Given the description of an element on the screen output the (x, y) to click on. 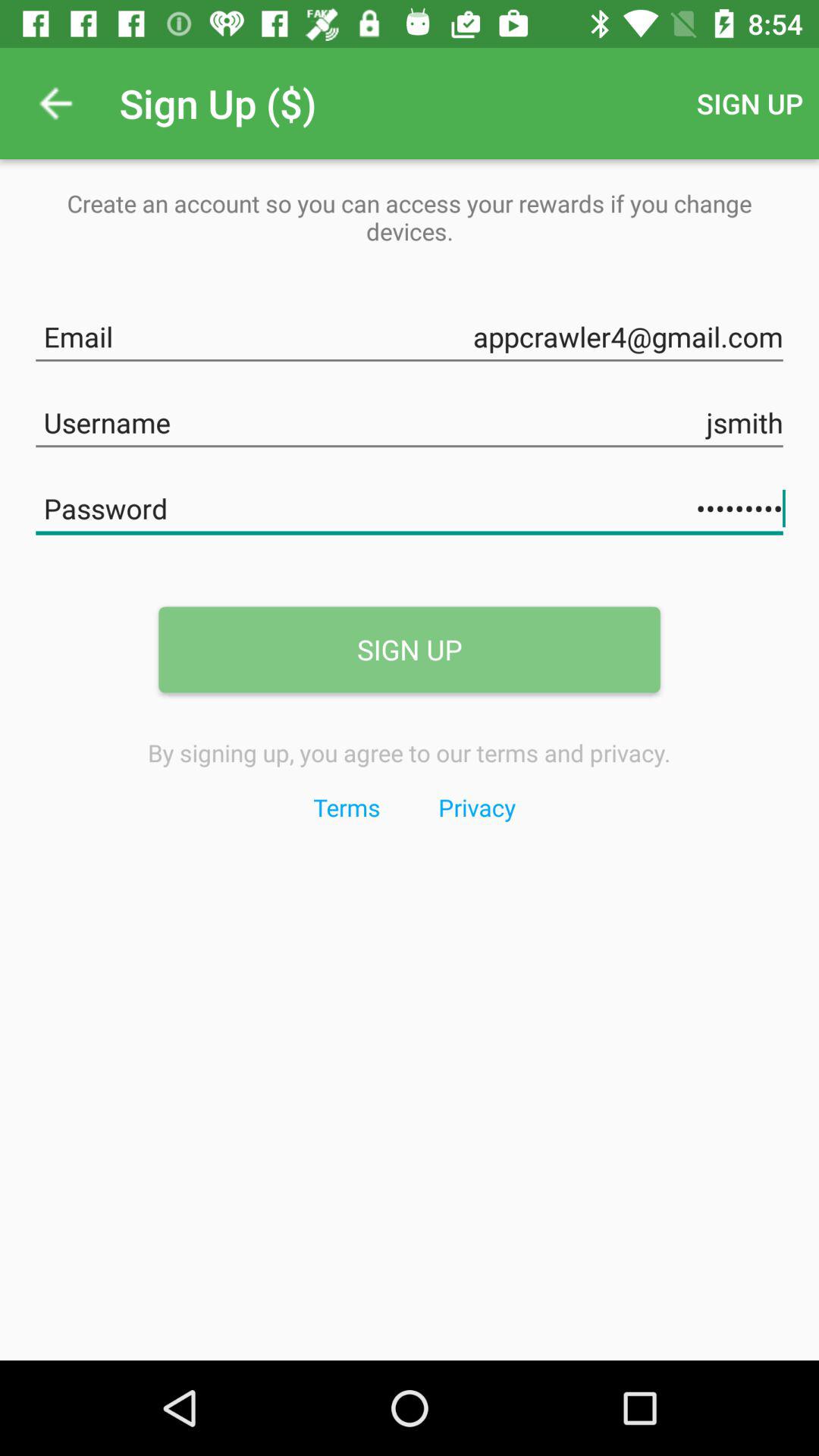
swipe to the appcrawler4@gmail.com item (409, 334)
